Given the description of an element on the screen output the (x, y) to click on. 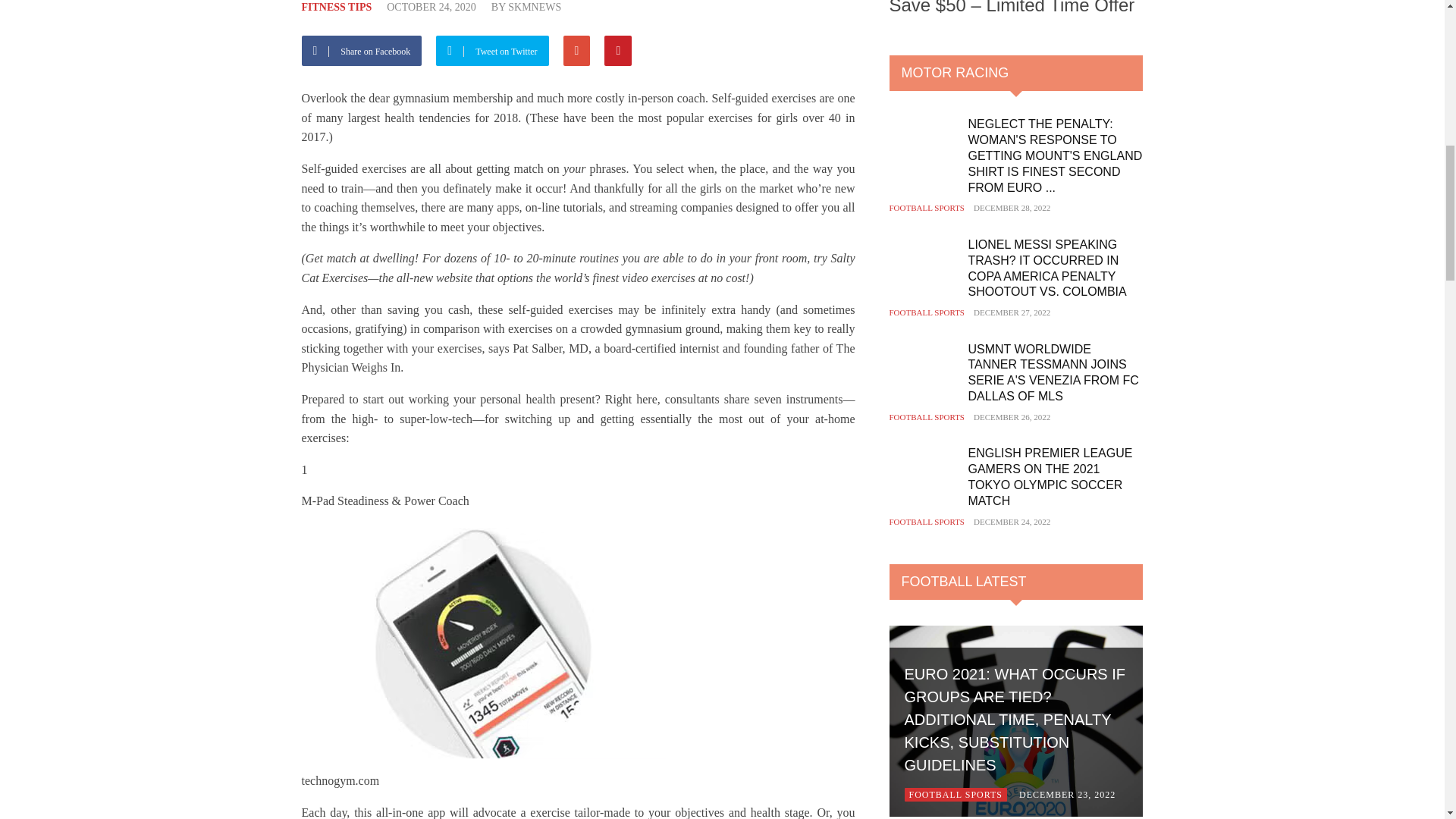
SKMNEWS (534, 7)
Tweet on Twitter (497, 50)
FITNESS TIPS (336, 7)
Share on Facebook (367, 50)
